Given the description of an element on the screen output the (x, y) to click on. 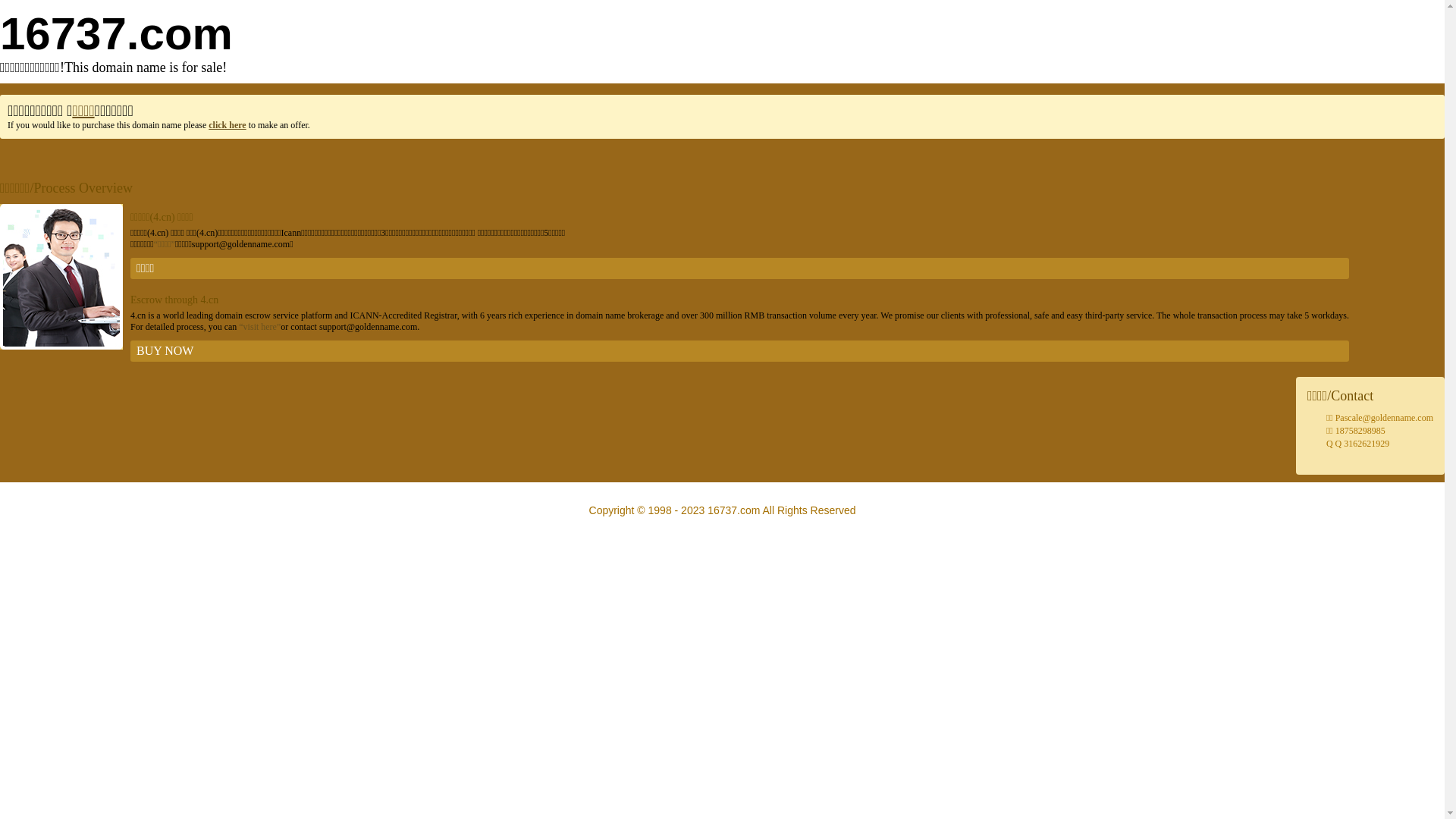
click here Element type: text (226, 124)
BUY NOW Element type: text (739, 350)
